Given the description of an element on the screen output the (x, y) to click on. 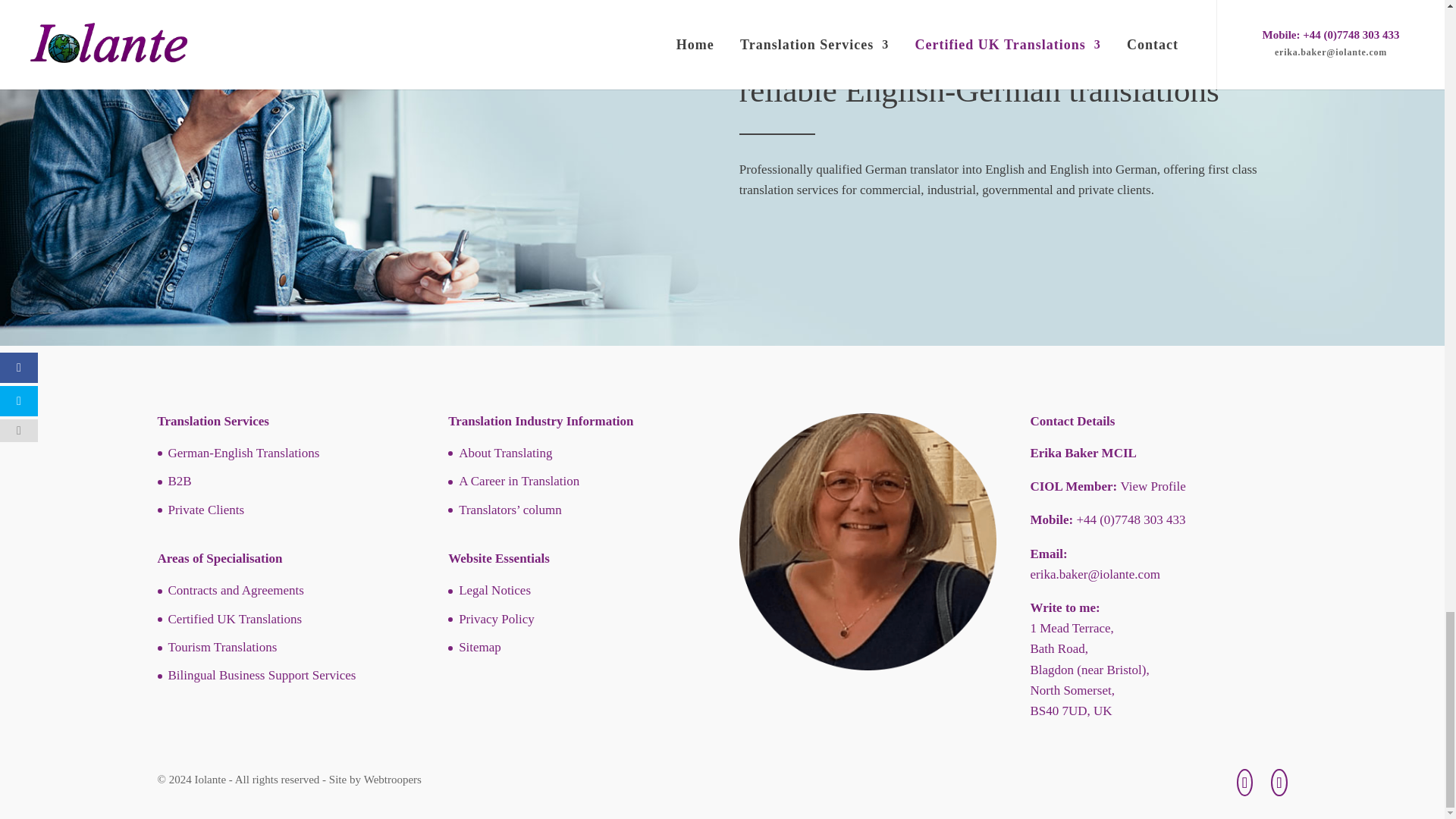
Webtroopers (393, 779)
